Given the description of an element on the screen output the (x, y) to click on. 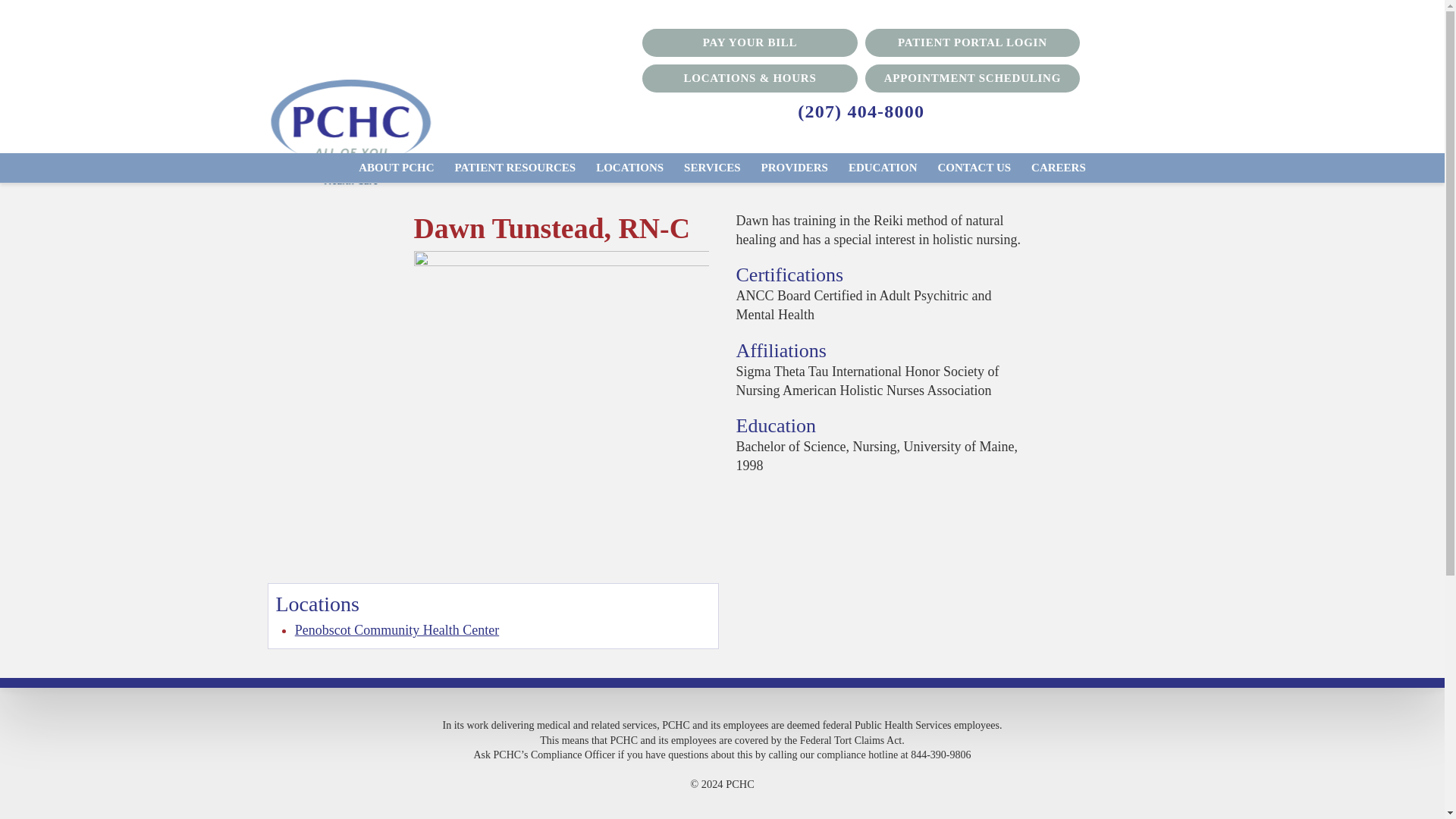
PATIENT PORTAL LOGIN (972, 42)
SERVICES (712, 167)
PATIENT RESOURCES (515, 167)
CONTACT US (974, 167)
APPOINTMENT SCHEDULING (972, 78)
EDUCATION (882, 167)
PAY YOUR BILL (749, 42)
PROVIDERS (794, 167)
LOCATIONS (630, 167)
ABOUT PCHC (396, 167)
